Given the description of an element on the screen output the (x, y) to click on. 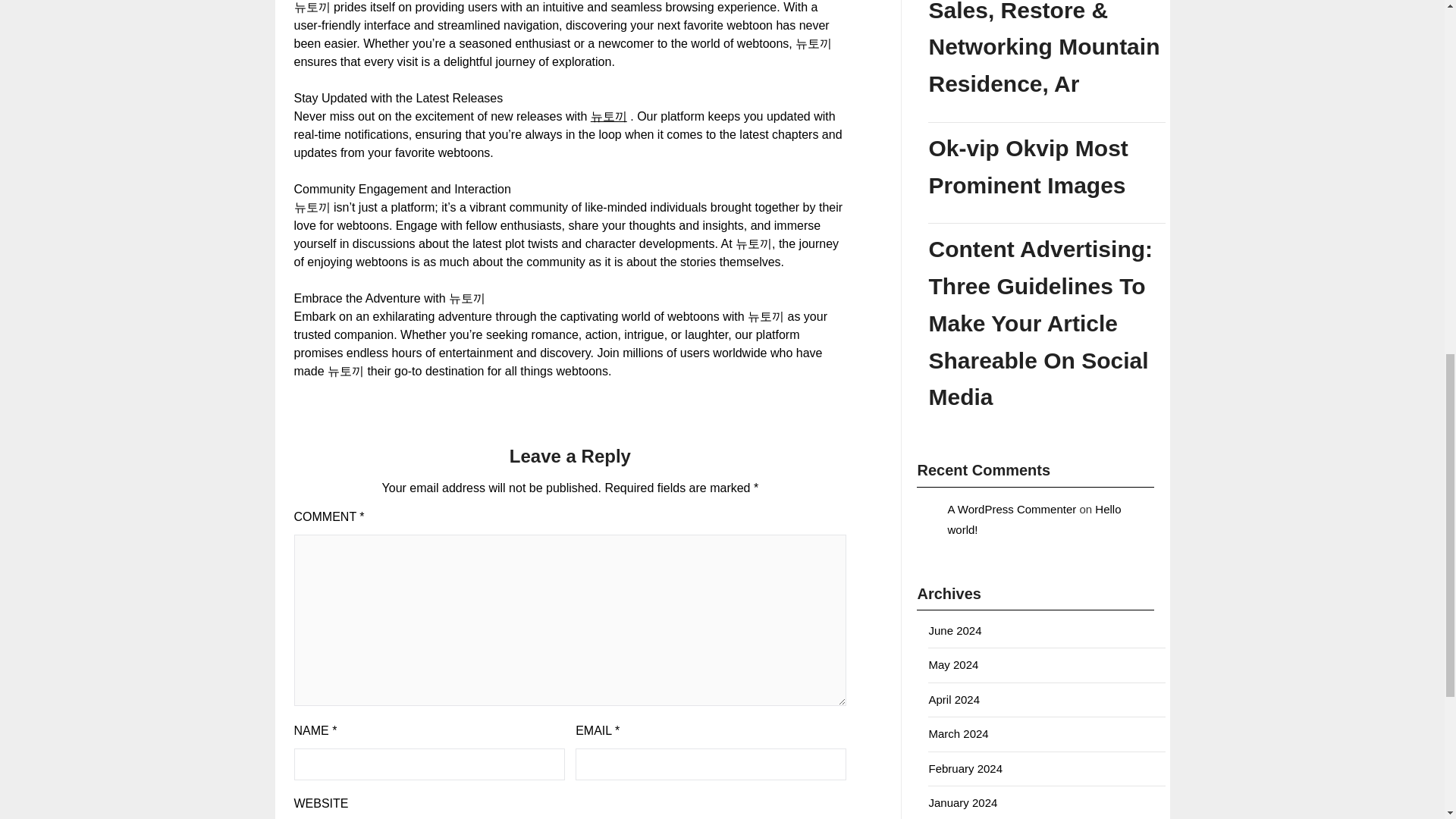
March 2024 (958, 733)
June 2024 (954, 630)
February 2024 (965, 767)
April 2024 (953, 698)
Hello world! (1034, 518)
January 2024 (962, 802)
A WordPress Commenter (1011, 508)
May 2024 (953, 664)
Ok-vip Okvip Most Prominent Images (1047, 167)
